Given the description of an element on the screen output the (x, y) to click on. 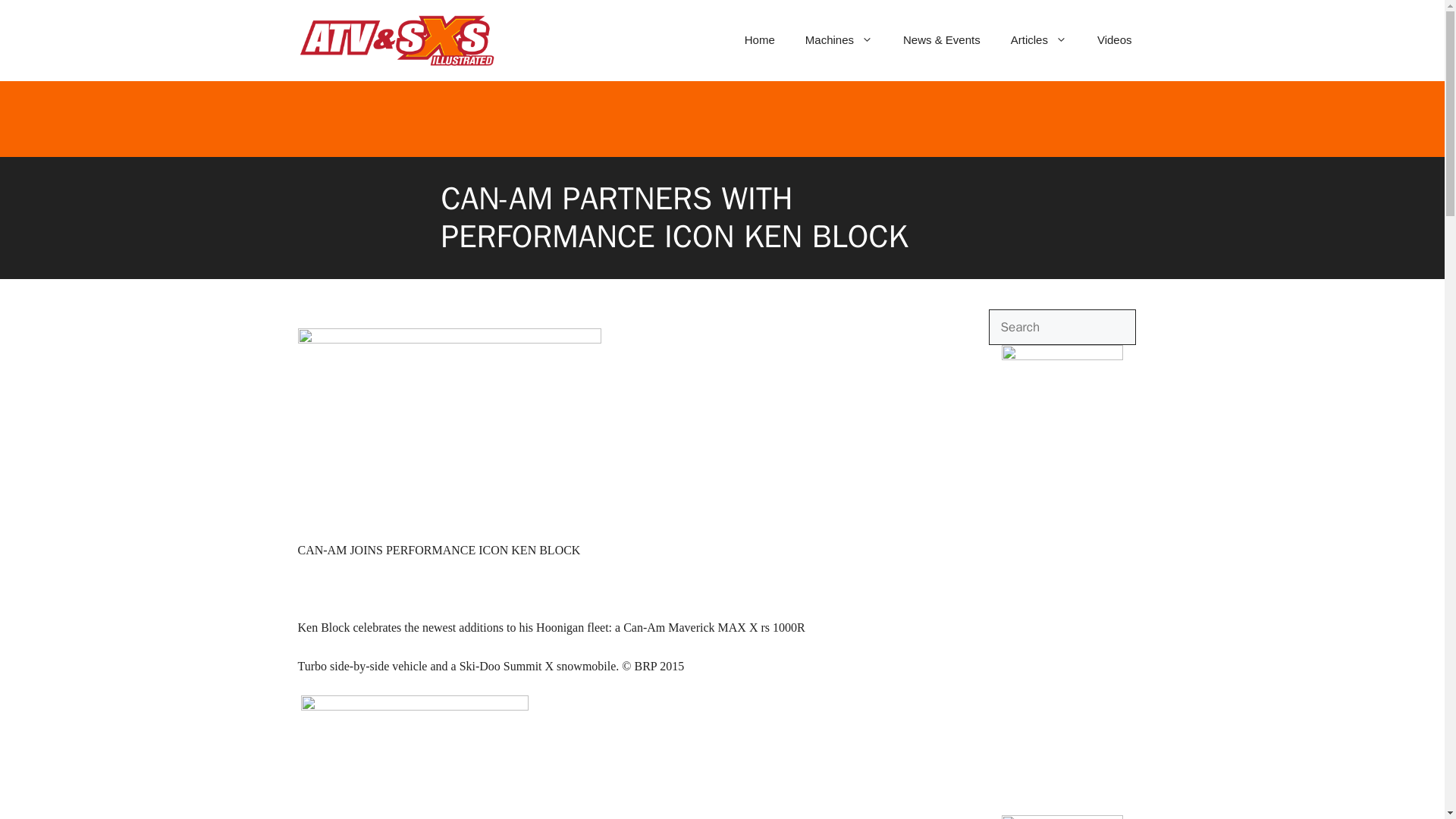
Ken Block and the Can-Am Maverick MAX X rs 1000R  (448, 429)
Videos (1114, 40)
Machines (839, 40)
Home (759, 40)
Articles (1038, 40)
Ken Block and the Can-Am Maverick MAX X rs 1000R  (448, 338)
